Given the description of an element on the screen output the (x, y) to click on. 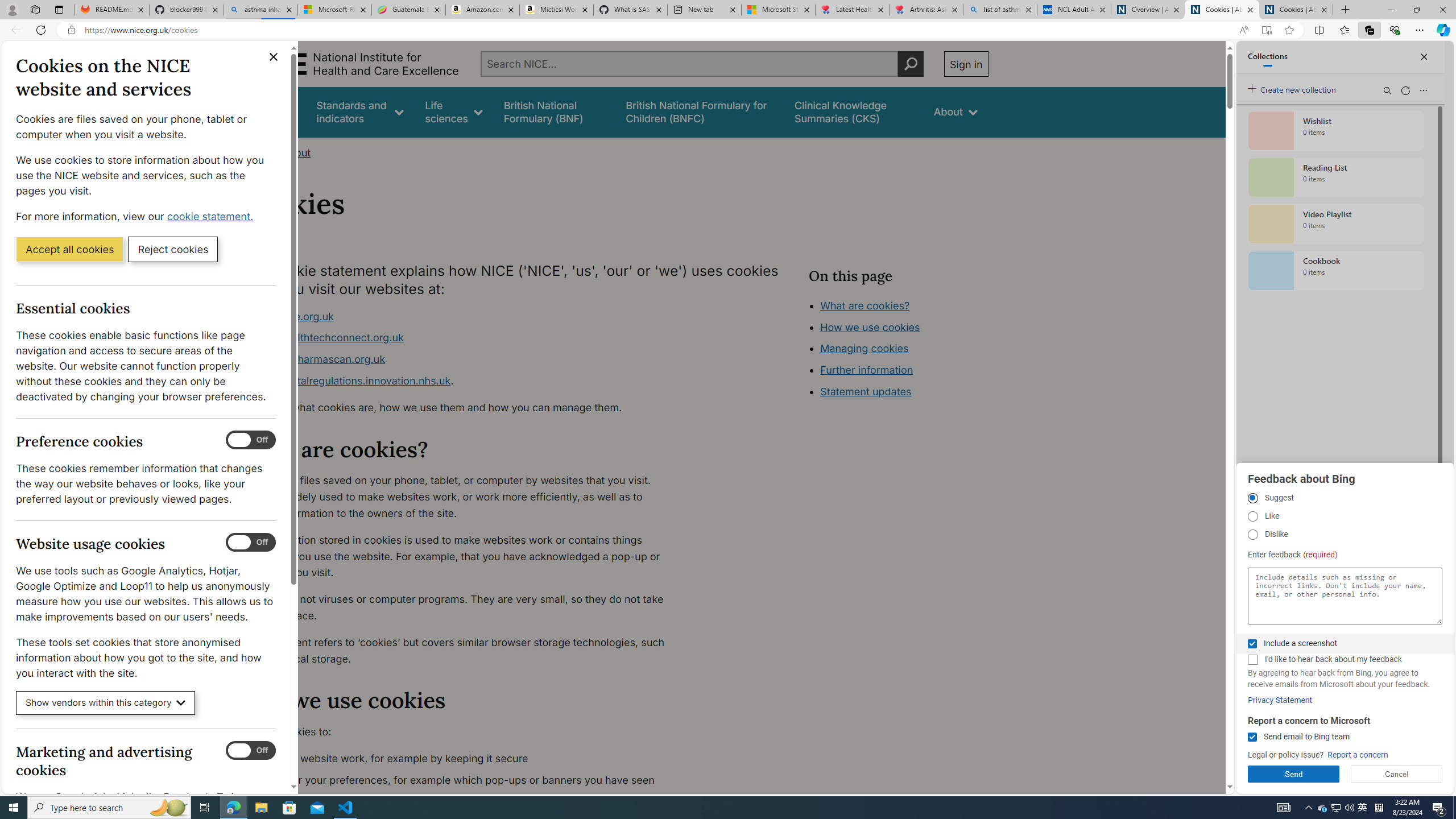
Privacy Statement (1280, 700)
Guidance (272, 111)
www.ukpharmascan.org.uk (318, 359)
asthma inhaler - Search (260, 9)
www.healthtechconnect.org.uk (327, 337)
Statement updates (865, 391)
Perform search (909, 63)
www.digitalregulations.innovation.nhs.uk. (464, 380)
